Given the description of an element on the screen output the (x, y) to click on. 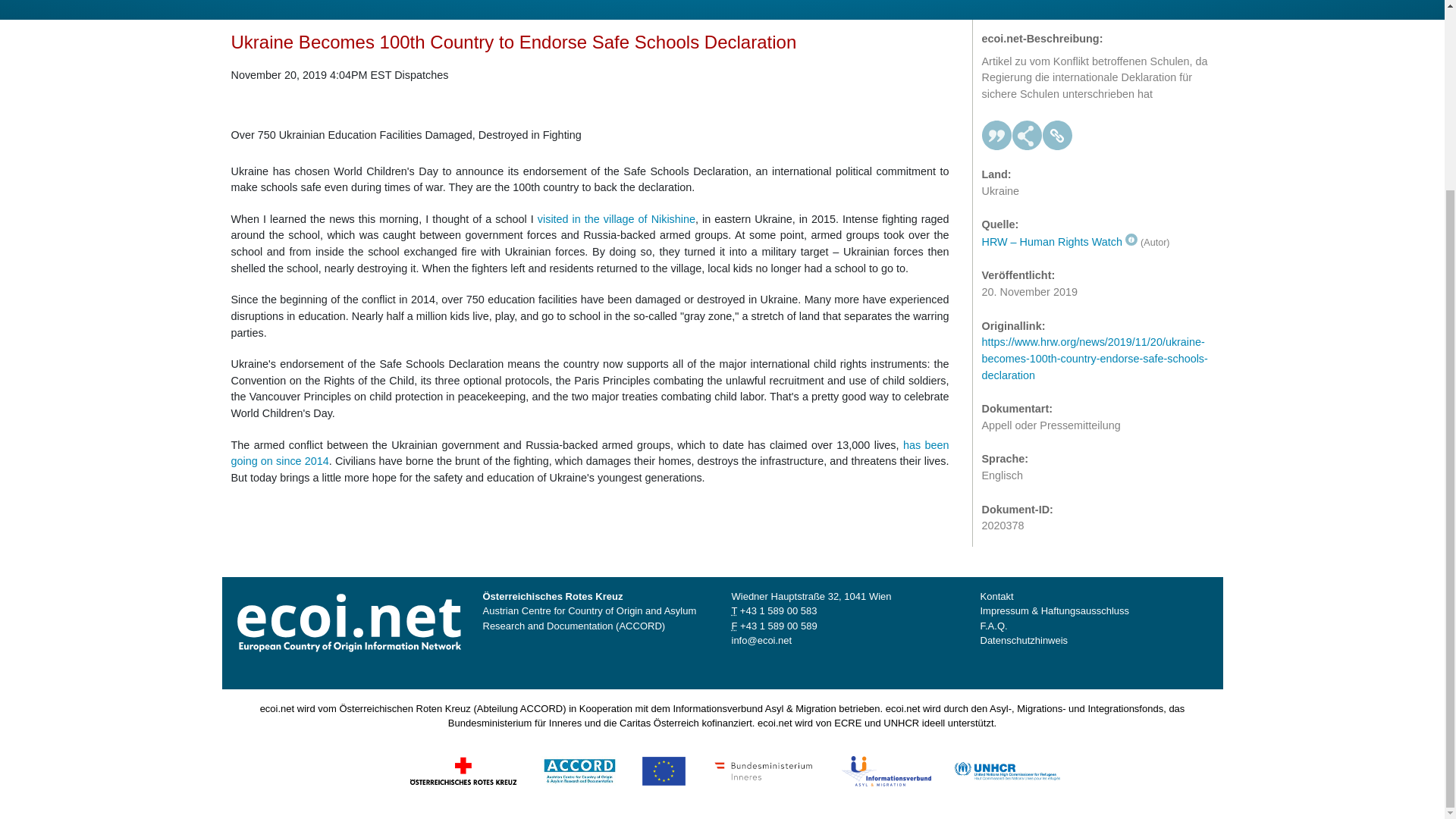
Zitieren als (996, 135)
Fax (733, 625)
Telefon (733, 610)
Teilen (1026, 135)
UNHCR - The UN Refugee Agency (1006, 769)
Quellenbeschreibung lesen (1059, 241)
Datenschutzhinweis (1023, 640)
Fax (777, 625)
F.A.Q. (993, 625)
Telefon (777, 610)
Permalink (1056, 135)
has been going on since 2014 (589, 452)
visited in the village of Nikishine (616, 218)
Kontakt (996, 595)
